Given the description of an element on the screen output the (x, y) to click on. 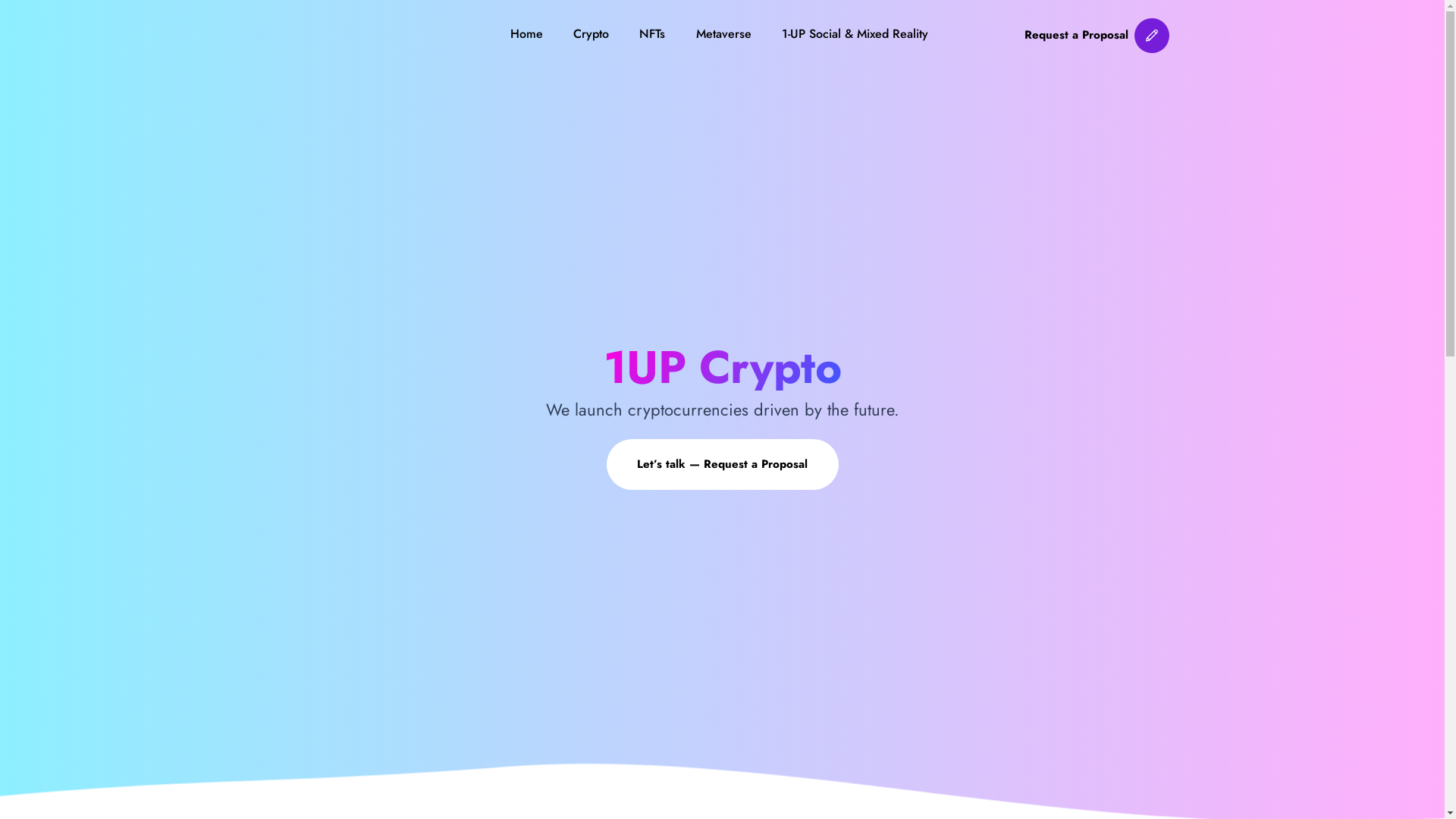
NFTs Element type: text (652, 34)
Metaverse Element type: text (723, 34)
1-UP Social & Mixed Reality Element type: text (854, 34)
Request a Proposal Element type: text (1096, 35)
Crypto Element type: text (591, 34)
Home Element type: text (526, 34)
